Given the description of an element on the screen output the (x, y) to click on. 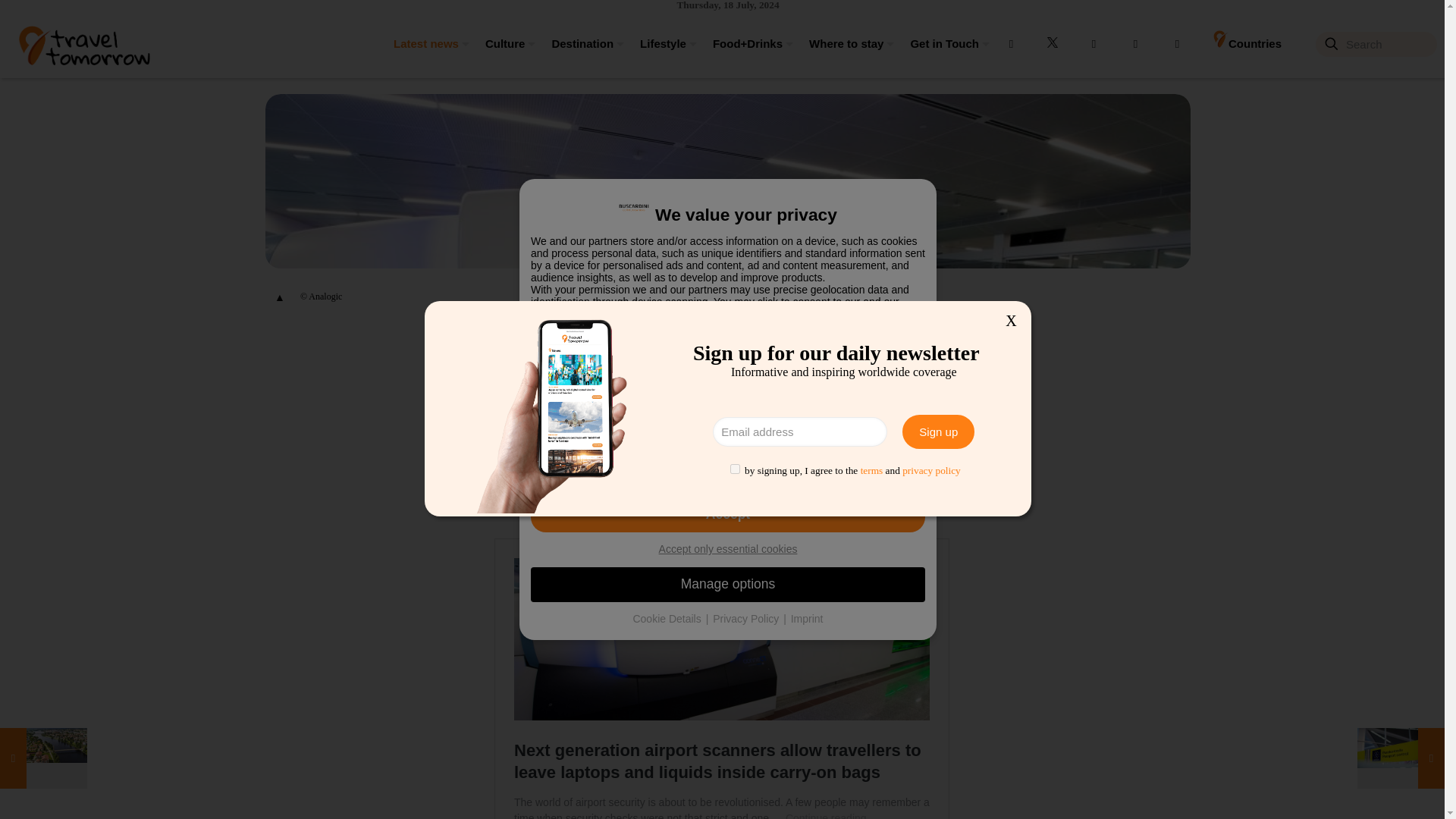
Share on Facebook (826, 343)
1 (734, 469)
Share on Email (906, 343)
Share on WhatsApp (932, 343)
Lifestyle (660, 43)
Share on LinkedIn (880, 343)
Culture (503, 43)
Destination (579, 43)
Latest news (424, 43)
Travel Tomorrow (83, 43)
Sign up (938, 430)
Share on Twitter (853, 343)
